Given the description of an element on the screen output the (x, y) to click on. 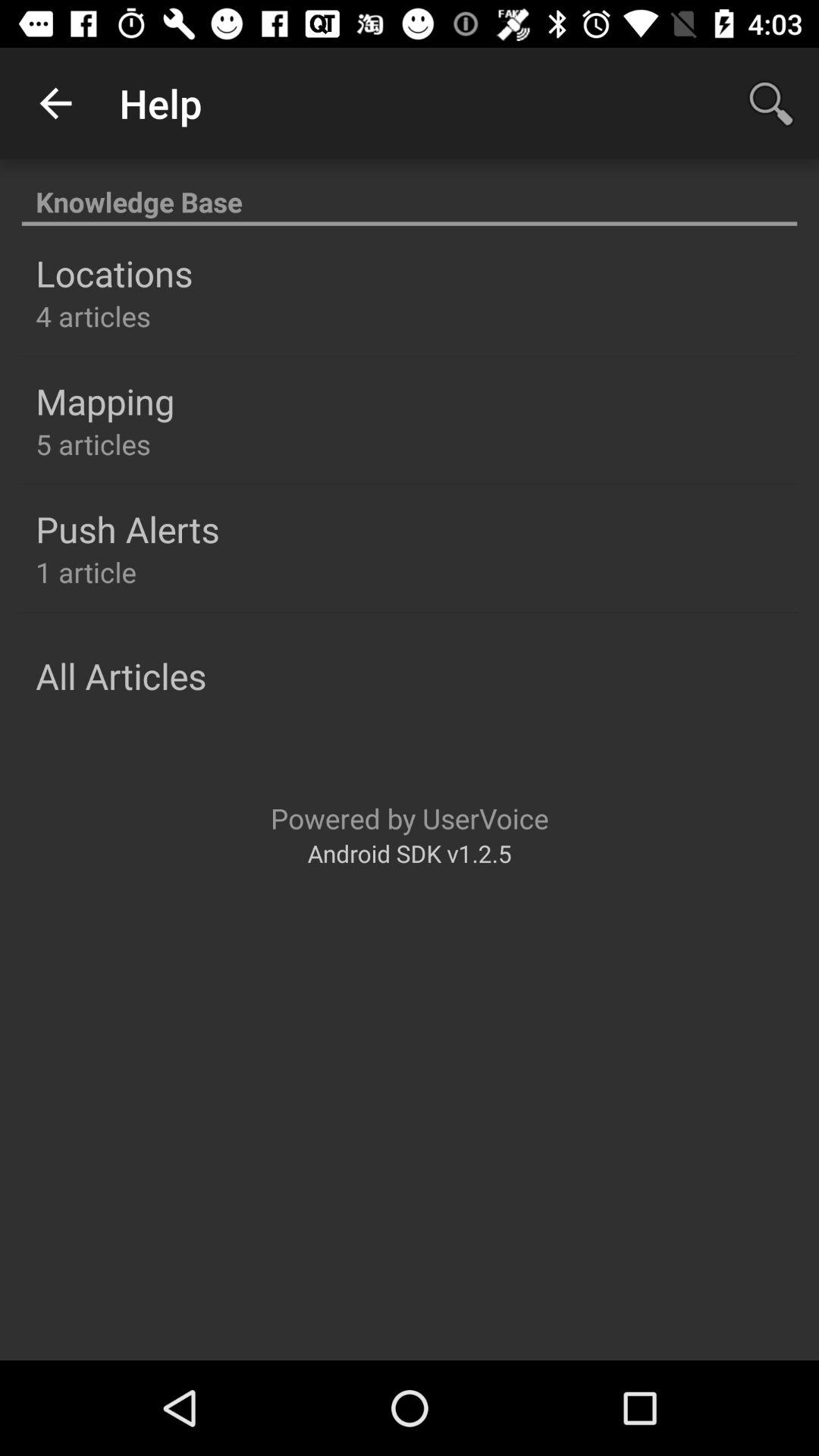
launch the item above locations item (409, 193)
